Given the description of an element on the screen output the (x, y) to click on. 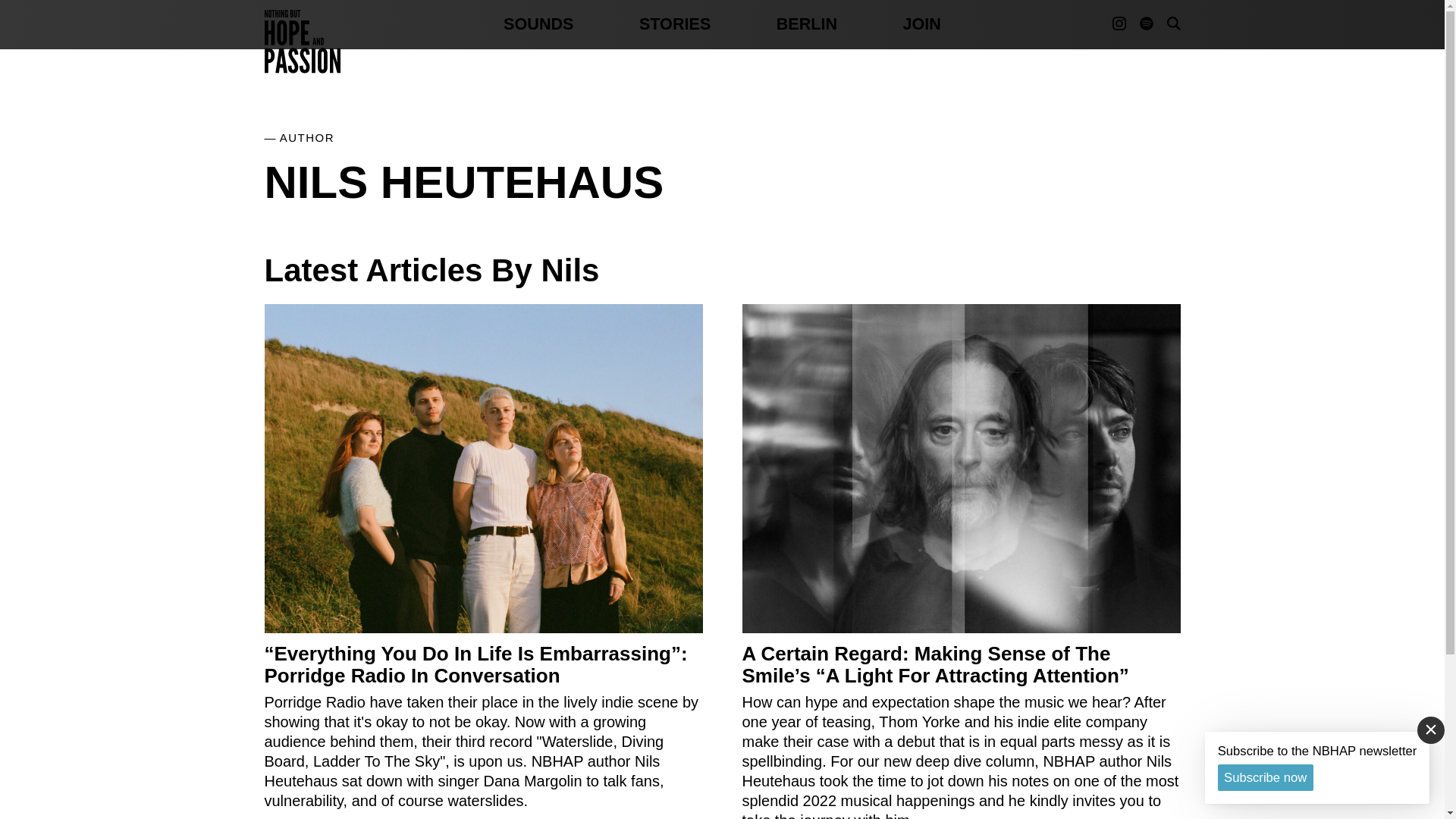
Go (1153, 121)
JOIN (921, 23)
Subscribe now (1265, 777)
SOUNDS (538, 23)
BERLIN (806, 23)
STORIES (674, 23)
